Given the description of an element on the screen output the (x, y) to click on. 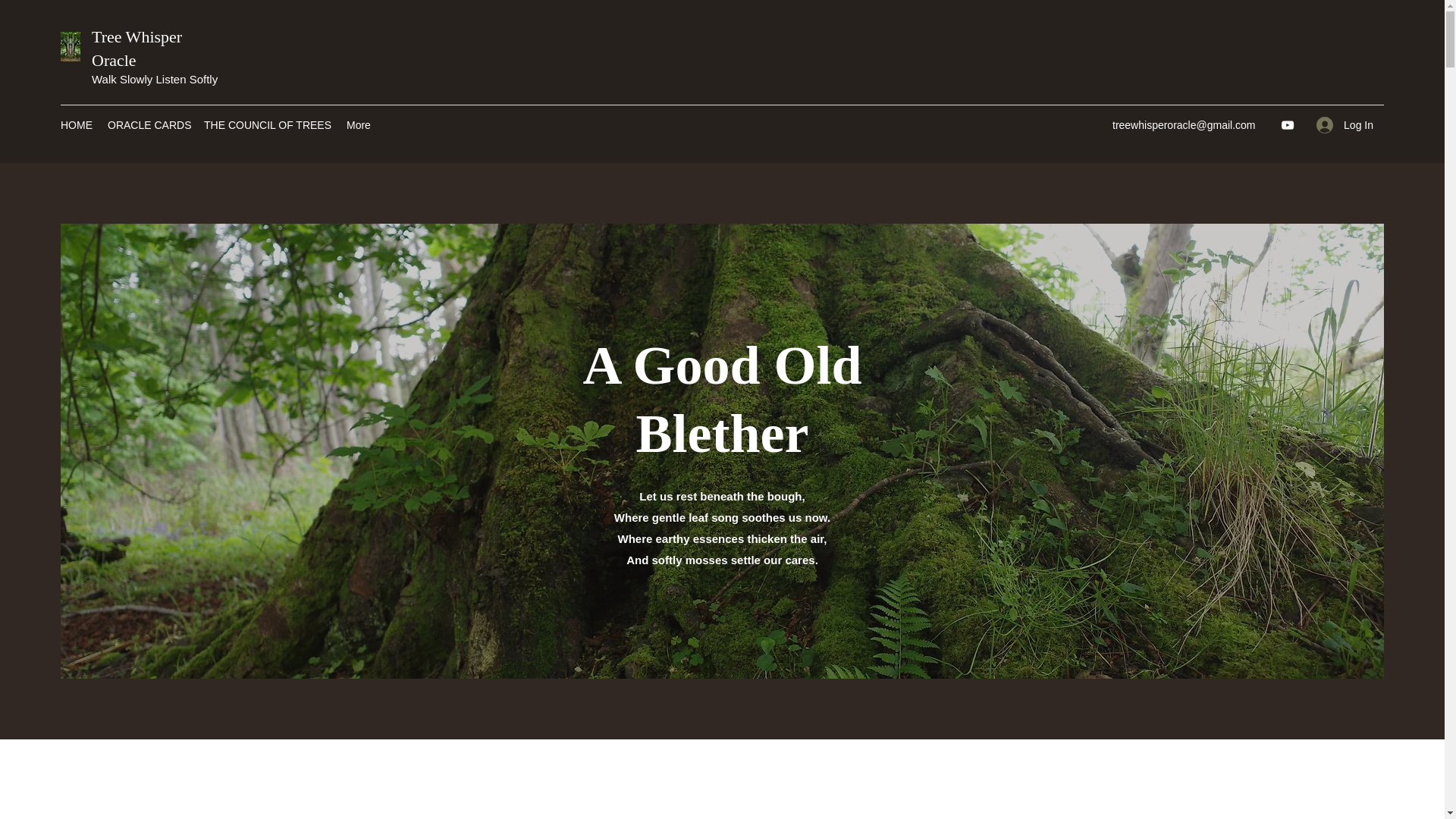
THE COUNCIL OF TREES (267, 124)
Tree Whisper Oracle (136, 48)
Log In (1345, 124)
HOME (76, 124)
ORACLE CARDS (148, 124)
